Given the description of an element on the screen output the (x, y) to click on. 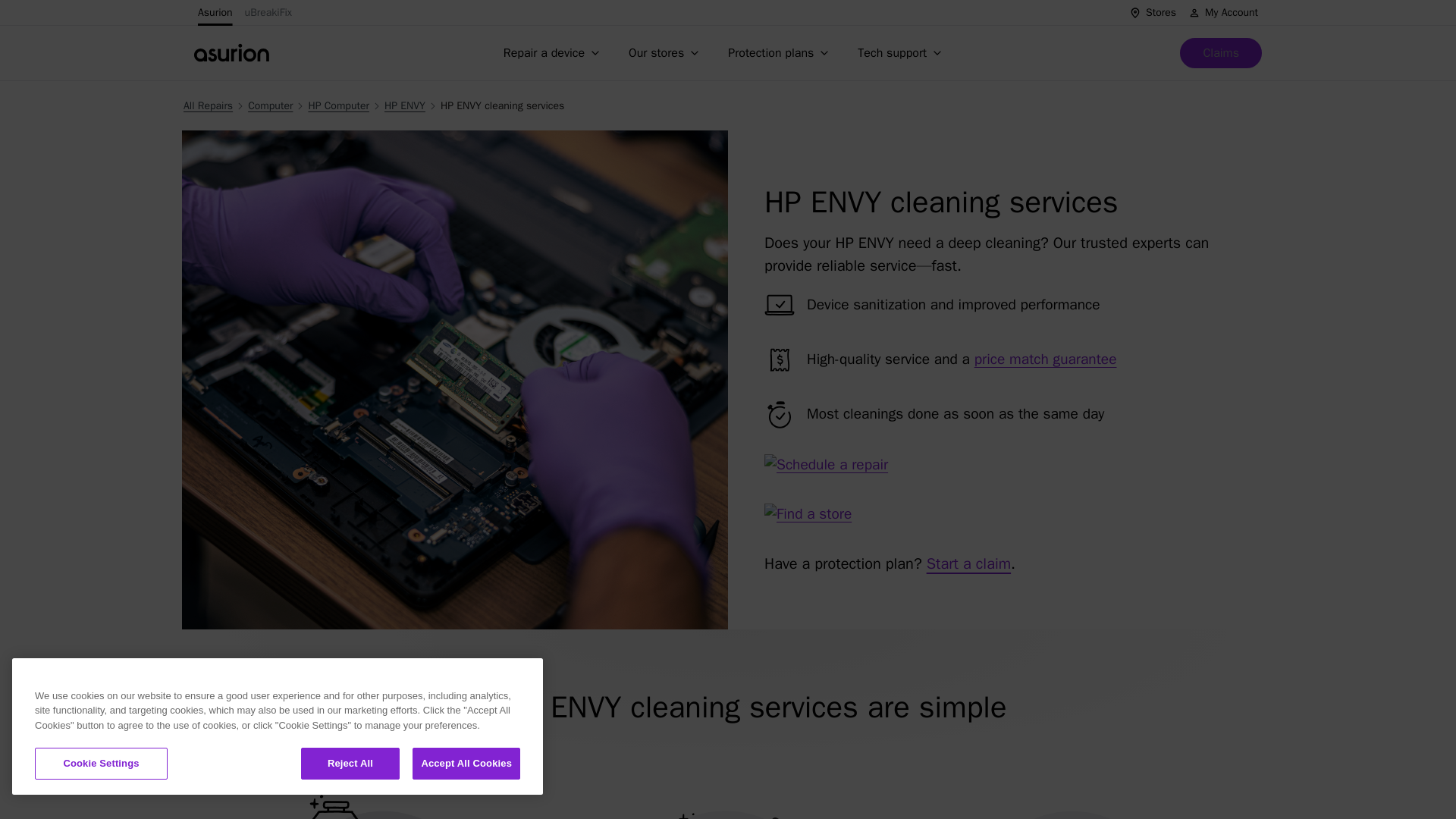
Our stores (665, 52)
uBreakiFix (268, 12)
Asurion (215, 12)
Stores (1152, 12)
Repair a device (553, 52)
My Account (1222, 12)
Tech support (901, 52)
Protection plans (780, 52)
Claims (1220, 52)
